Given the description of an element on the screen output the (x, y) to click on. 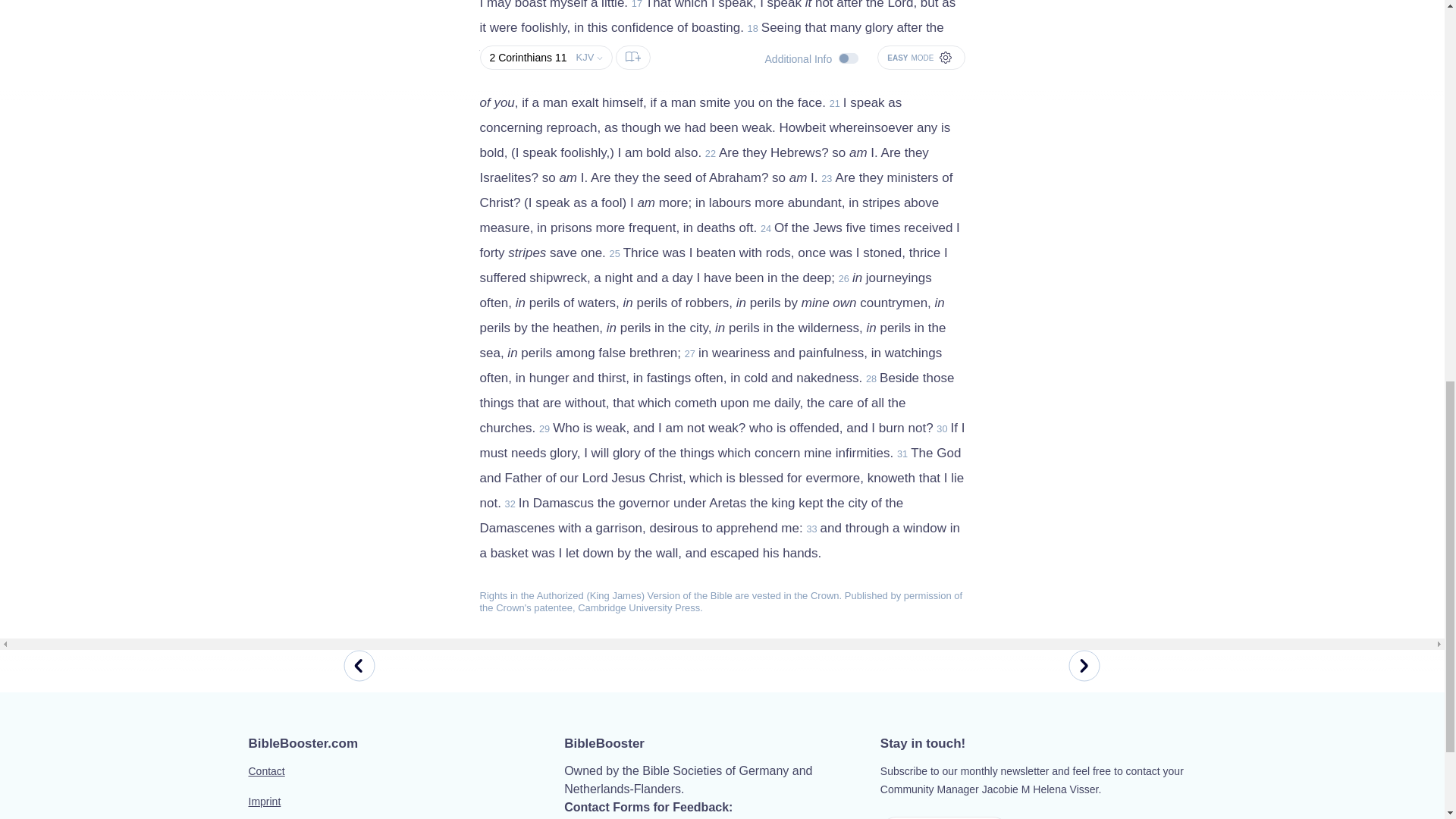
Get newsletter (944, 817)
Contact (406, 779)
Imprint (406, 807)
